Given the description of an element on the screen output the (x, y) to click on. 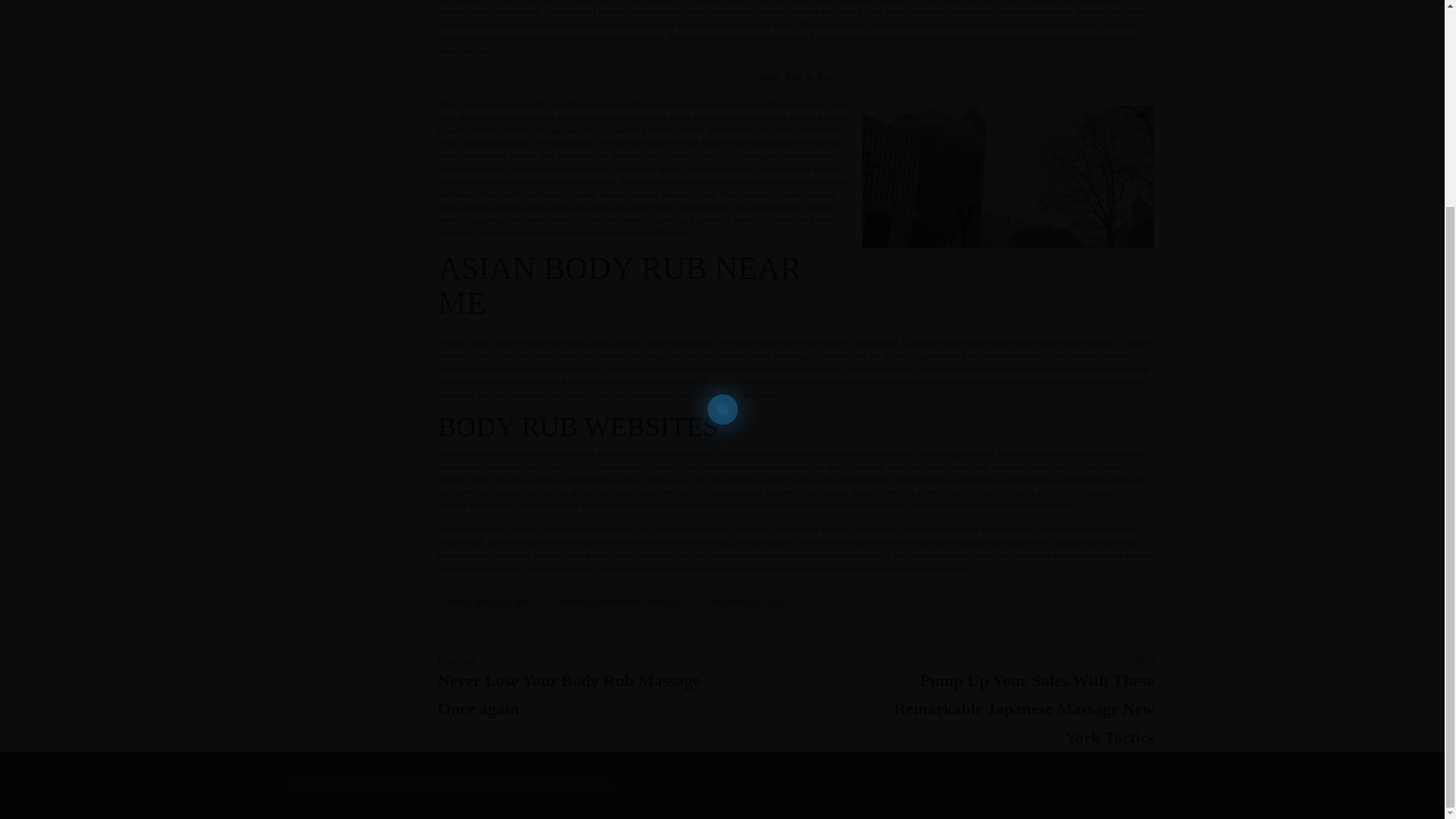
thai massage price (749, 601)
sensual stimulation massage (619, 601)
erotic massage girl (489, 601)
